Given the description of an element on the screen output the (x, y) to click on. 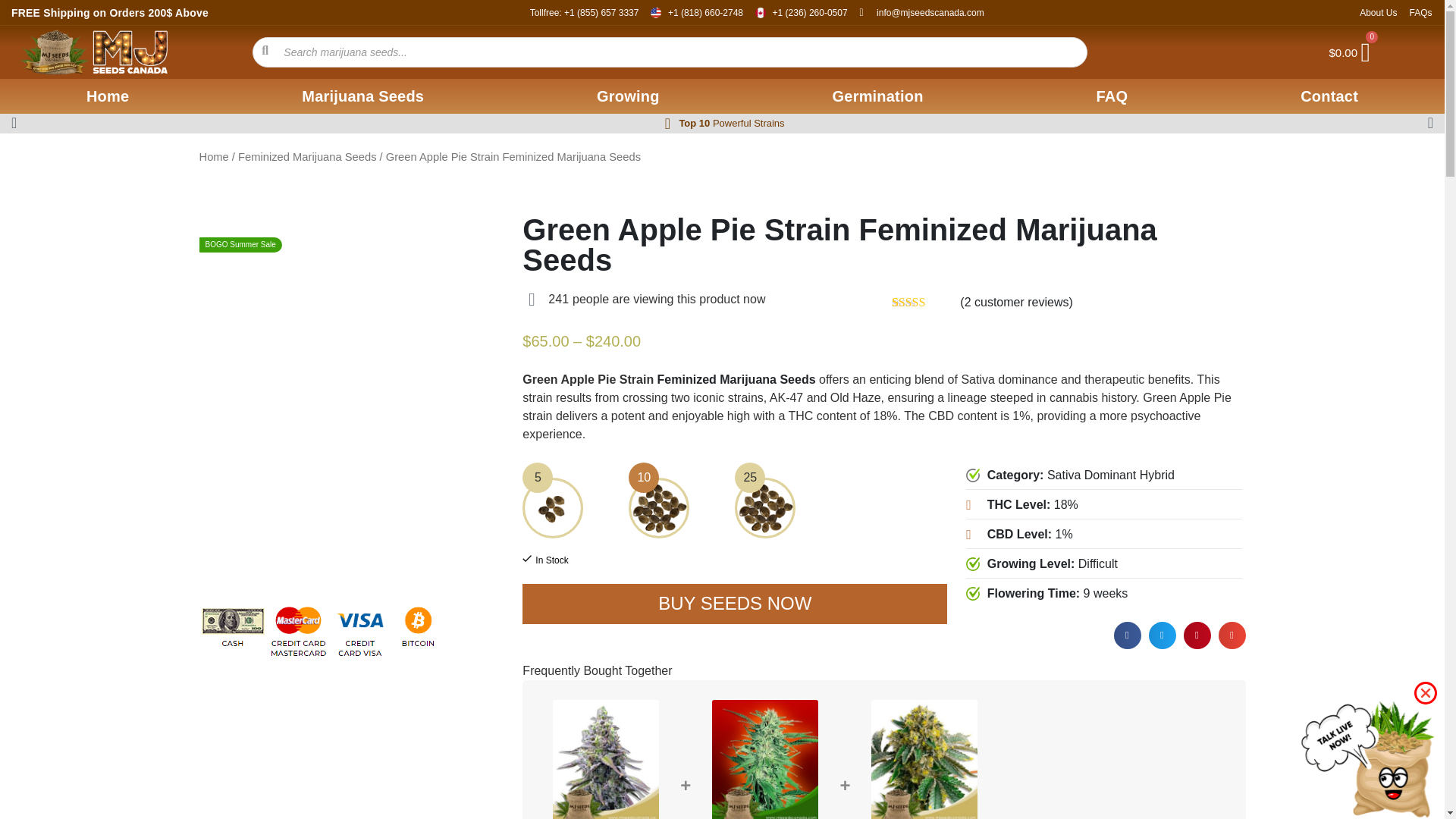
About Us (1377, 12)
Home (107, 95)
Northern Lights Strain Feminized Marijuana Seeds (764, 759)
Green Apple Pie Strain Feminized Marijuana Seeds (606, 759)
Germination (877, 95)
FAQ (1112, 95)
Top 10 Powerful Strains (731, 122)
Amnesia Haze Feminized Marijuana Seeds (923, 759)
FAQs (1420, 12)
Growing (628, 95)
Marijuana Seeds (363, 95)
